Given the description of an element on the screen output the (x, y) to click on. 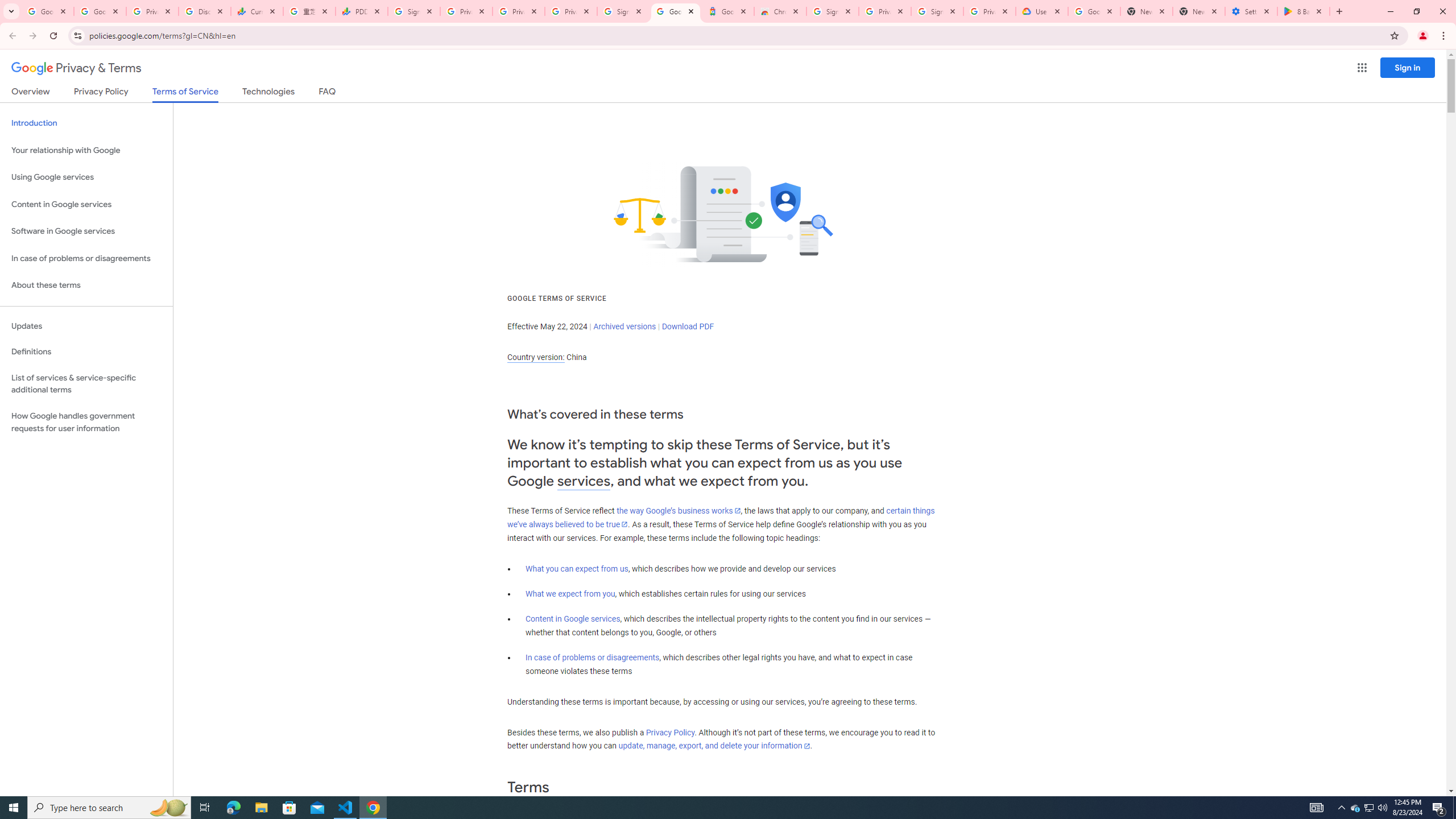
Country version: (535, 357)
In case of problems or disagreements (592, 657)
PDD Holdings Inc - ADR (PDD) Price & News - Google Finance (361, 11)
Chrome Web Store - Color themes by Chrome (779, 11)
